Given the description of an element on the screen output the (x, y) to click on. 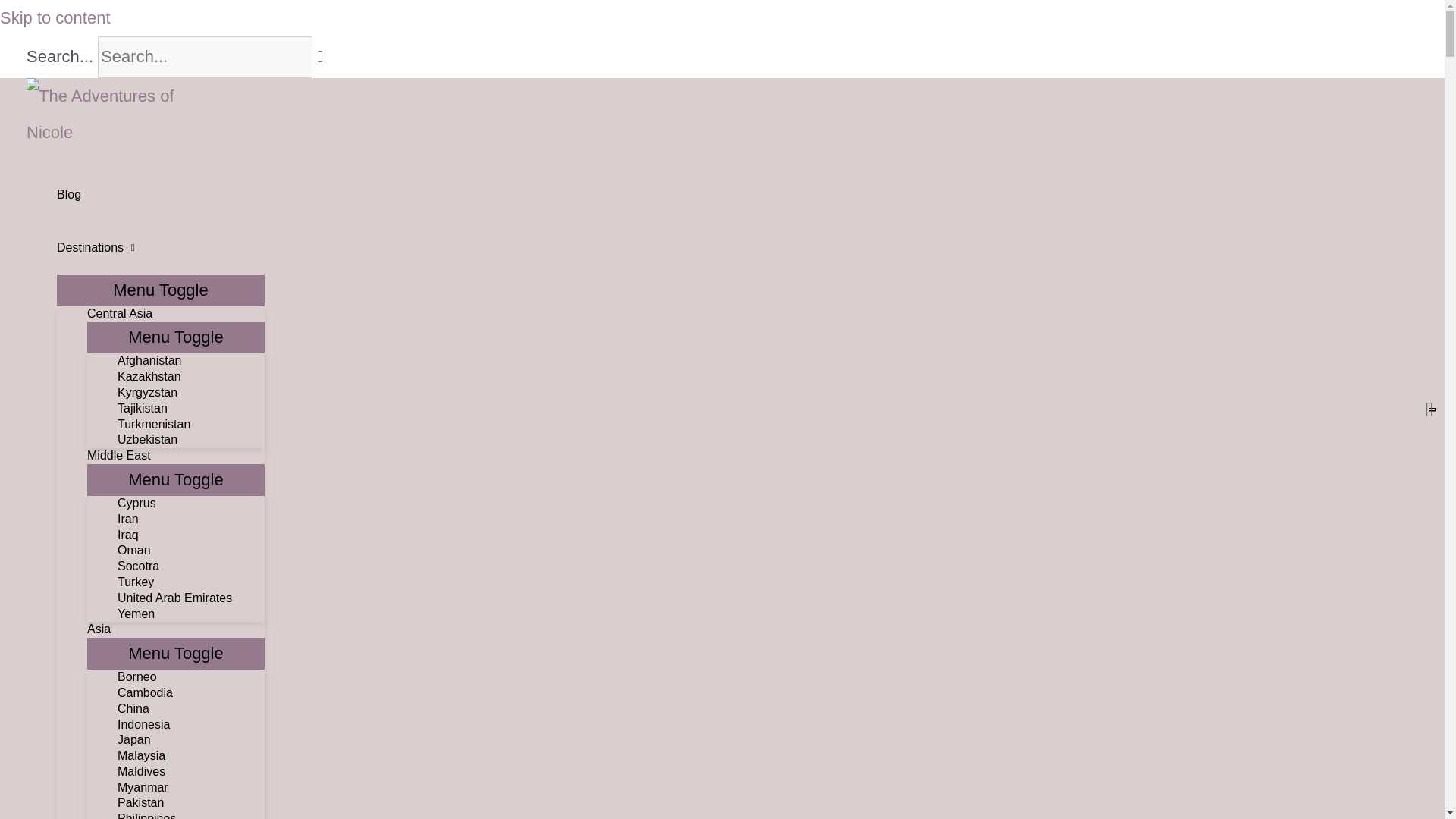
Tajikistan (190, 408)
Menu Toggle (175, 336)
Menu Toggle (175, 480)
Asia (175, 629)
Kazakhstan (190, 376)
Skip to content (55, 17)
Kyrgyzstan (190, 392)
Myanmar (190, 788)
Cambodia (190, 693)
Maldives (190, 772)
Iran (190, 519)
Destinations (160, 247)
Philippines (190, 815)
Middle East (175, 455)
Turkmenistan (190, 424)
